Given the description of an element on the screen output the (x, y) to click on. 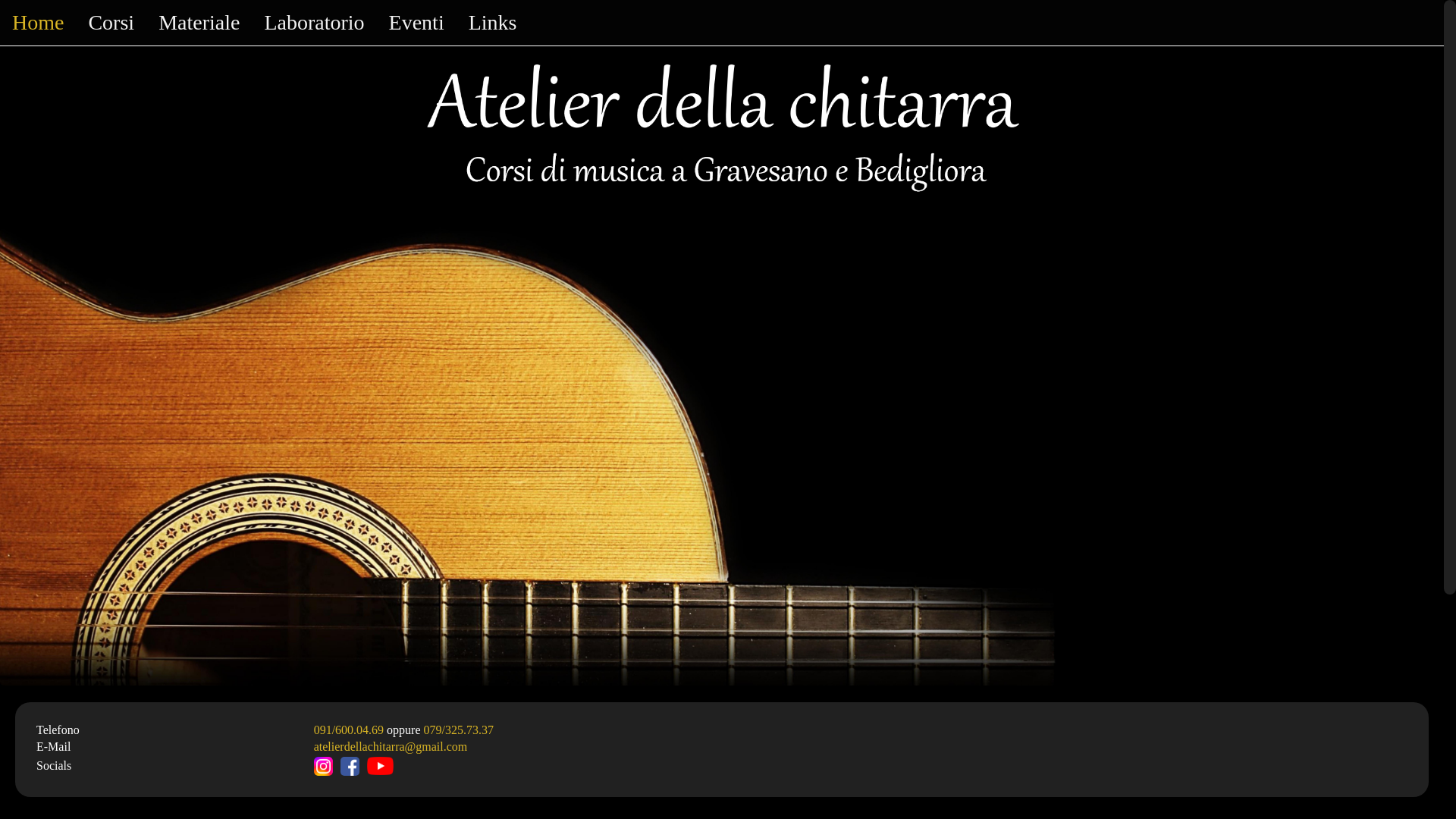
Links Element type: text (492, 22)
Eventi Element type: text (416, 22)
Home Element type: text (37, 22)
Materiale Element type: text (198, 22)
Laboratorio Element type: text (313, 22)
atelierdellachitarra@gmail.com Element type: text (390, 746)
Corsi Element type: text (110, 22)
091/600.04.69 Element type: text (348, 729)
079/325.73.37 Element type: text (458, 729)
